Given the description of an element on the screen output the (x, y) to click on. 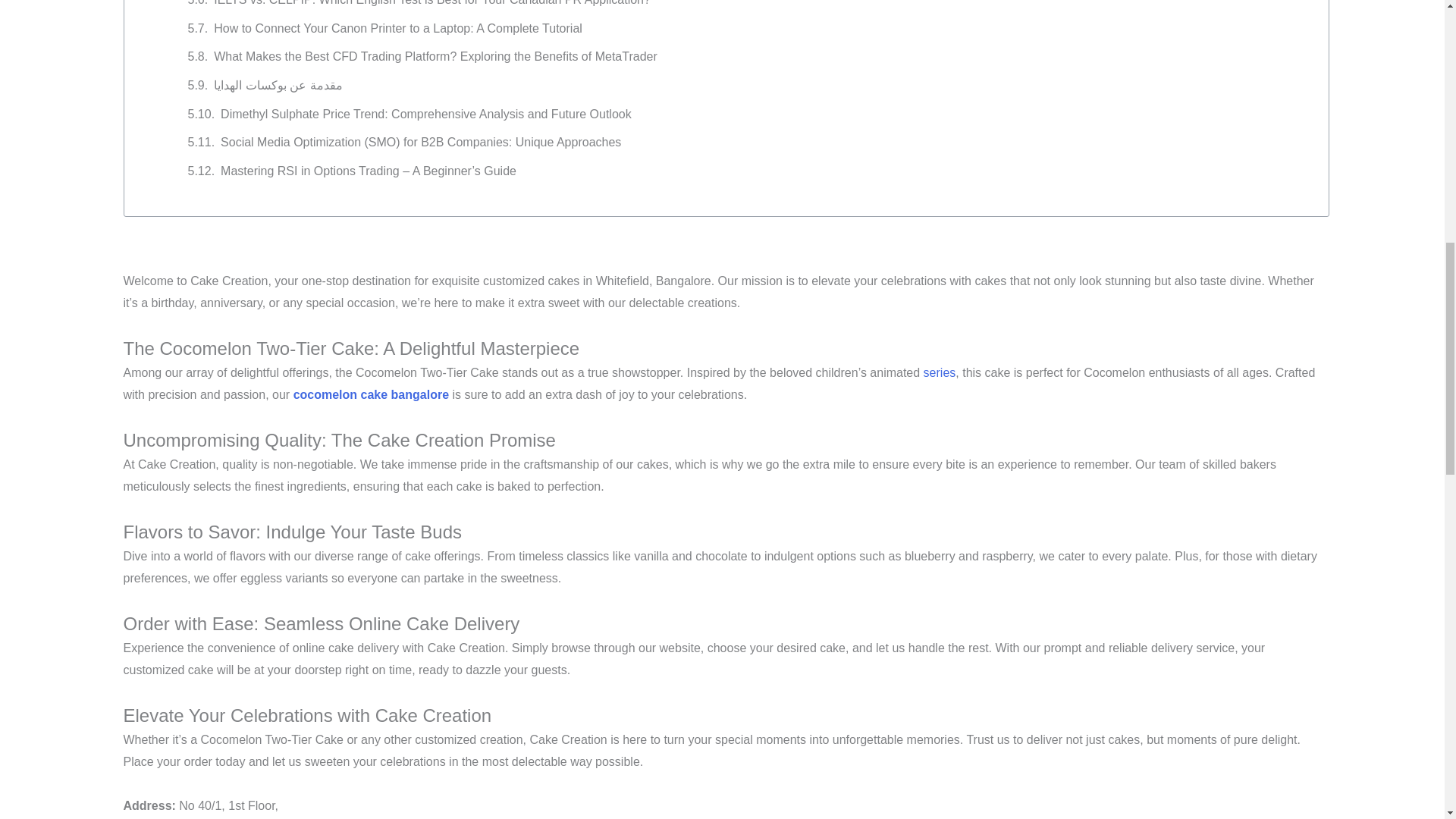
series (939, 372)
